Given the description of an element on the screen output the (x, y) to click on. 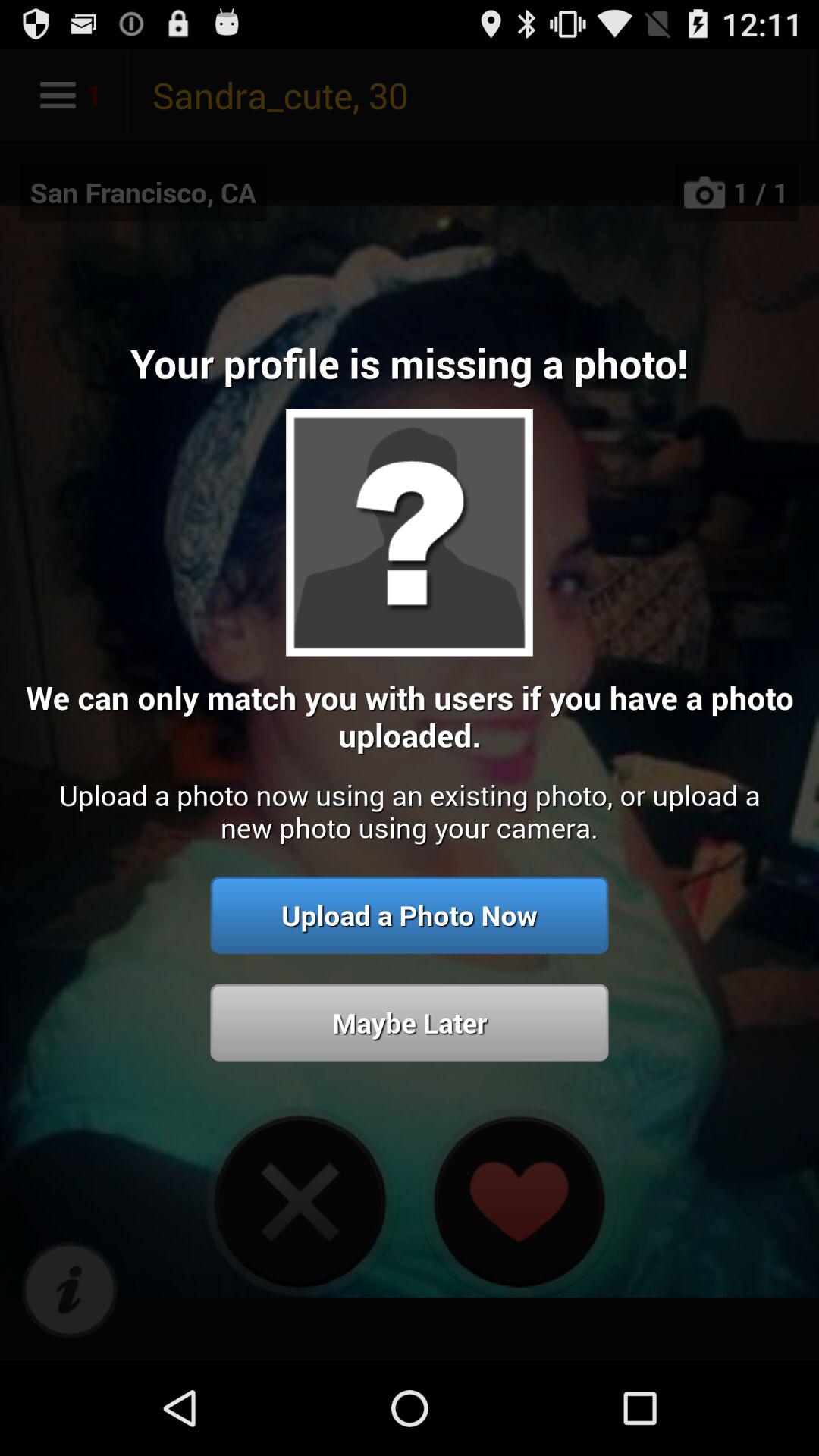
click icon below upload a photo app (69, 1290)
